Given the description of an element on the screen output the (x, y) to click on. 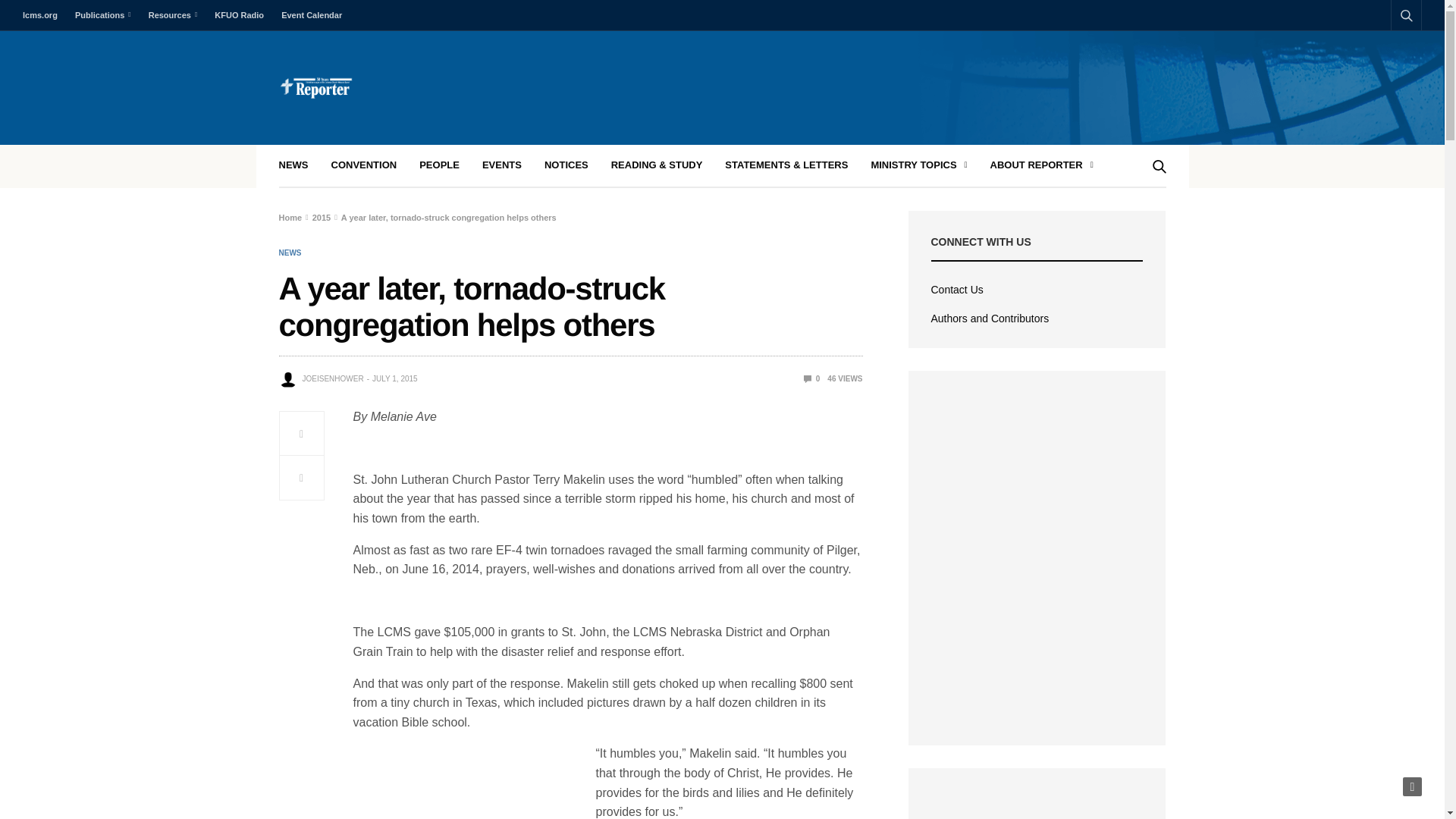
News (290, 253)
A year later, tornado-struck congregation helps others (811, 378)
lcms.org (44, 15)
Posts by joeisenhower (331, 378)
Publications (102, 15)
